Given the description of an element on the screen output the (x, y) to click on. 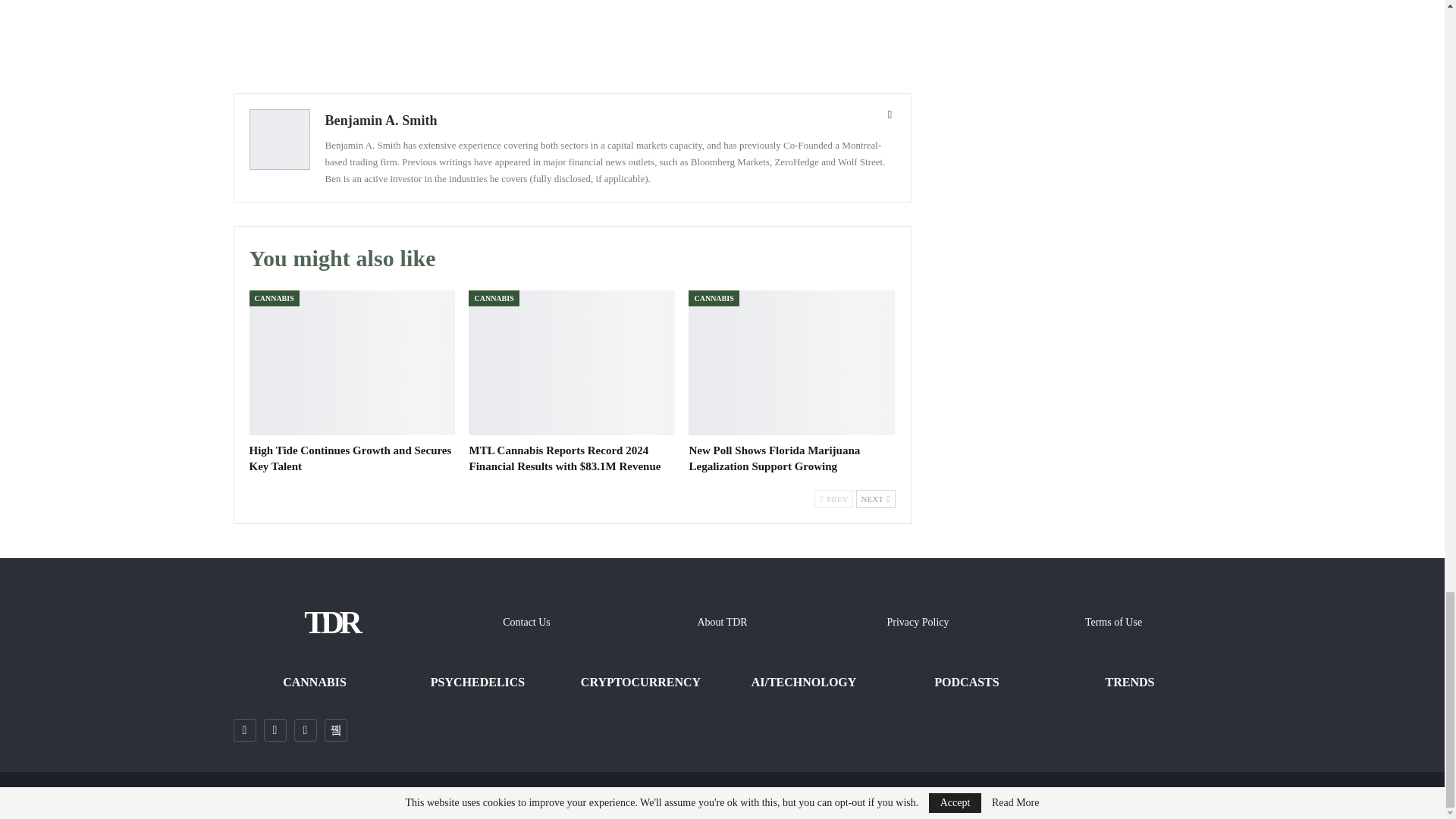
CANNABIS (273, 298)
Advertisement (571, 35)
Previous (833, 498)
